Given the description of an element on the screen output the (x, y) to click on. 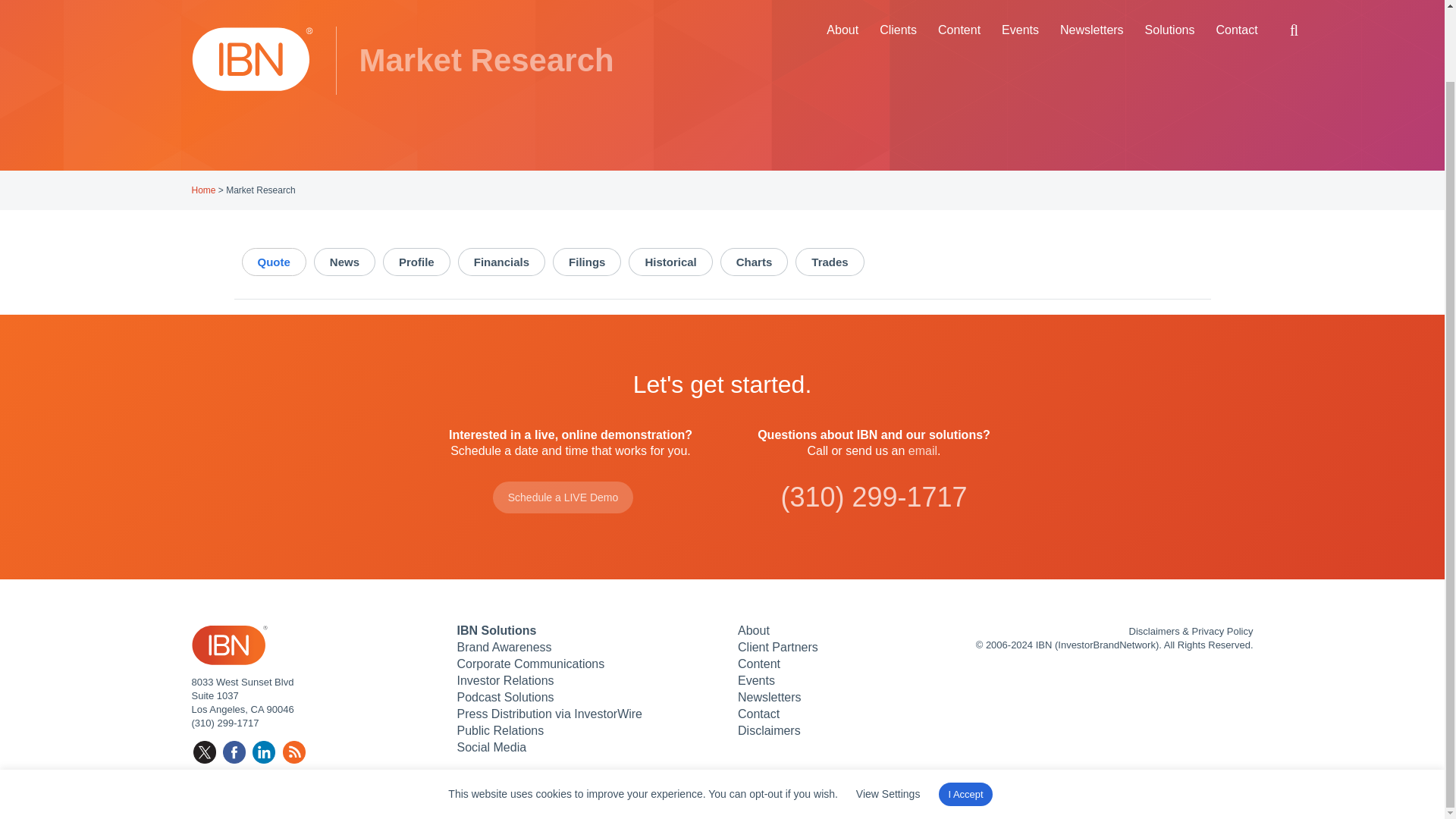
Social Media (491, 747)
twitter (203, 752)
facebook (234, 752)
Schedule a LIVE Demo (563, 497)
rss (293, 752)
Client Partners (778, 646)
Events (756, 680)
About (754, 630)
News (344, 262)
linkedin (263, 752)
Profile (415, 262)
Quote (273, 262)
IBN Solutions (496, 634)
Brand Awareness (504, 646)
Public Relations (500, 730)
